Given the description of an element on the screen output the (x, y) to click on. 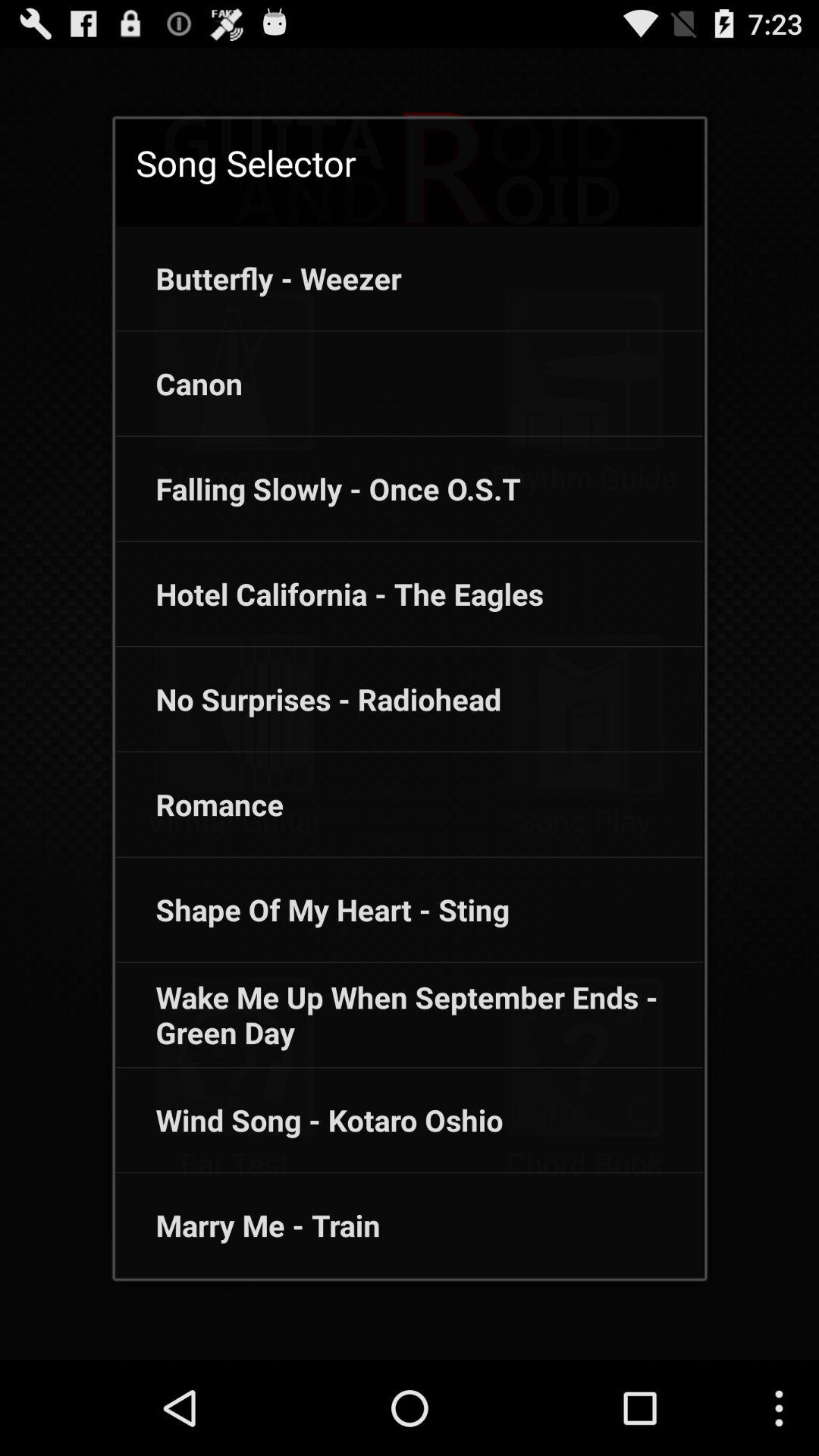
choose the romance icon (199, 804)
